Given the description of an element on the screen output the (x, y) to click on. 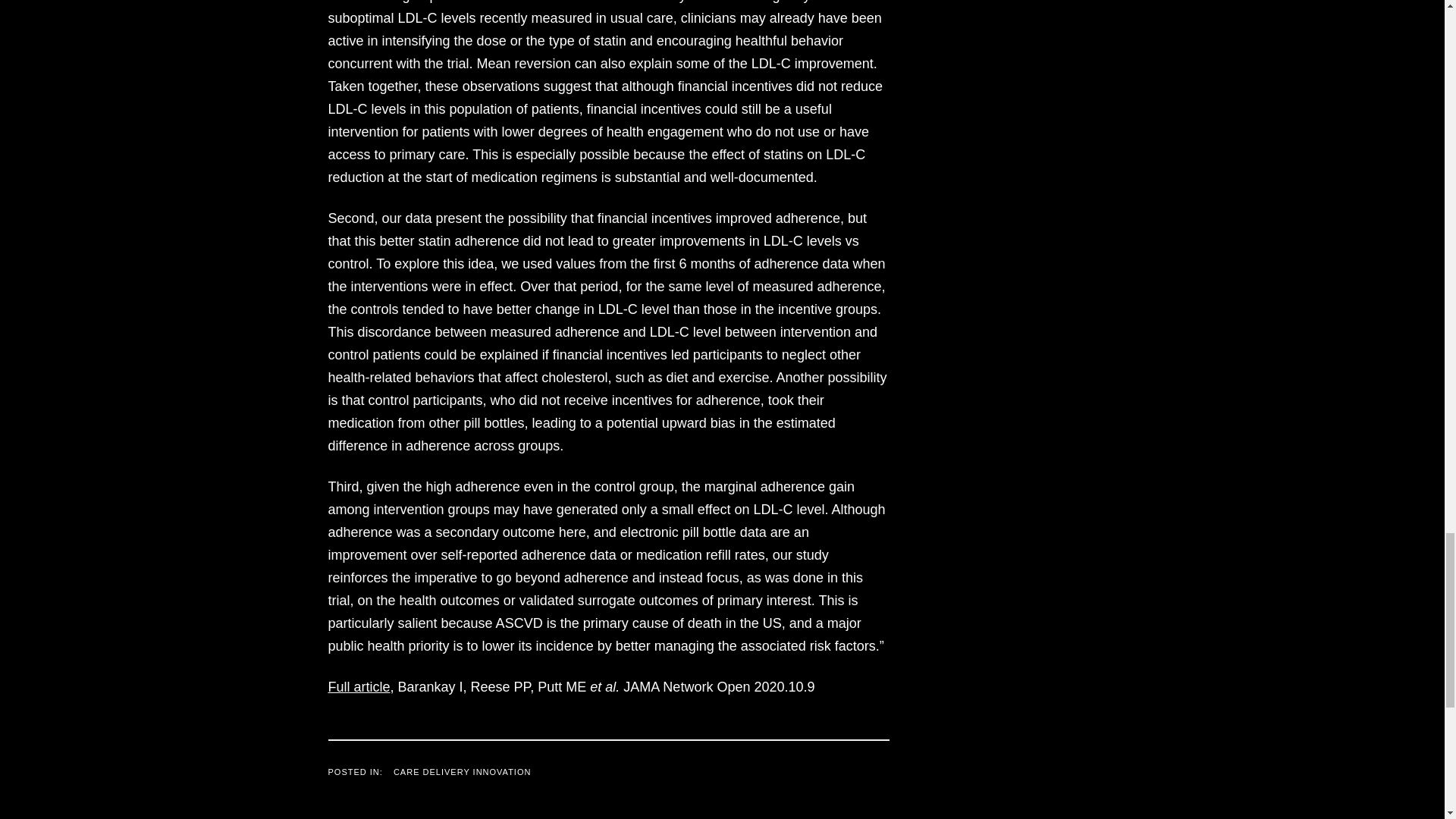
CARE DELIVERY INNOVATION (461, 772)
Full article (358, 686)
